Given the description of an element on the screen output the (x, y) to click on. 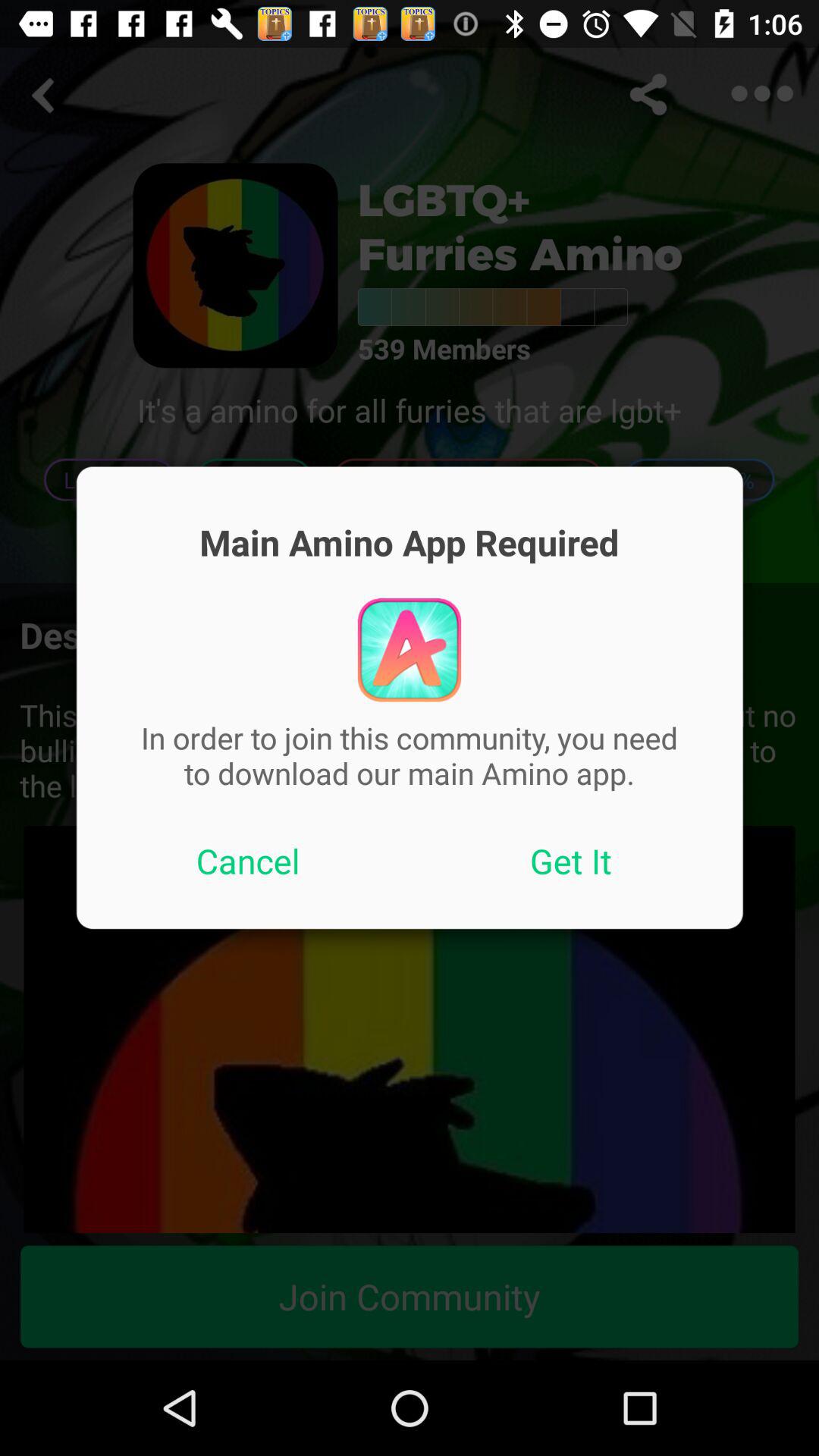
turn on the cancel item (247, 860)
